Given the description of an element on the screen output the (x, y) to click on. 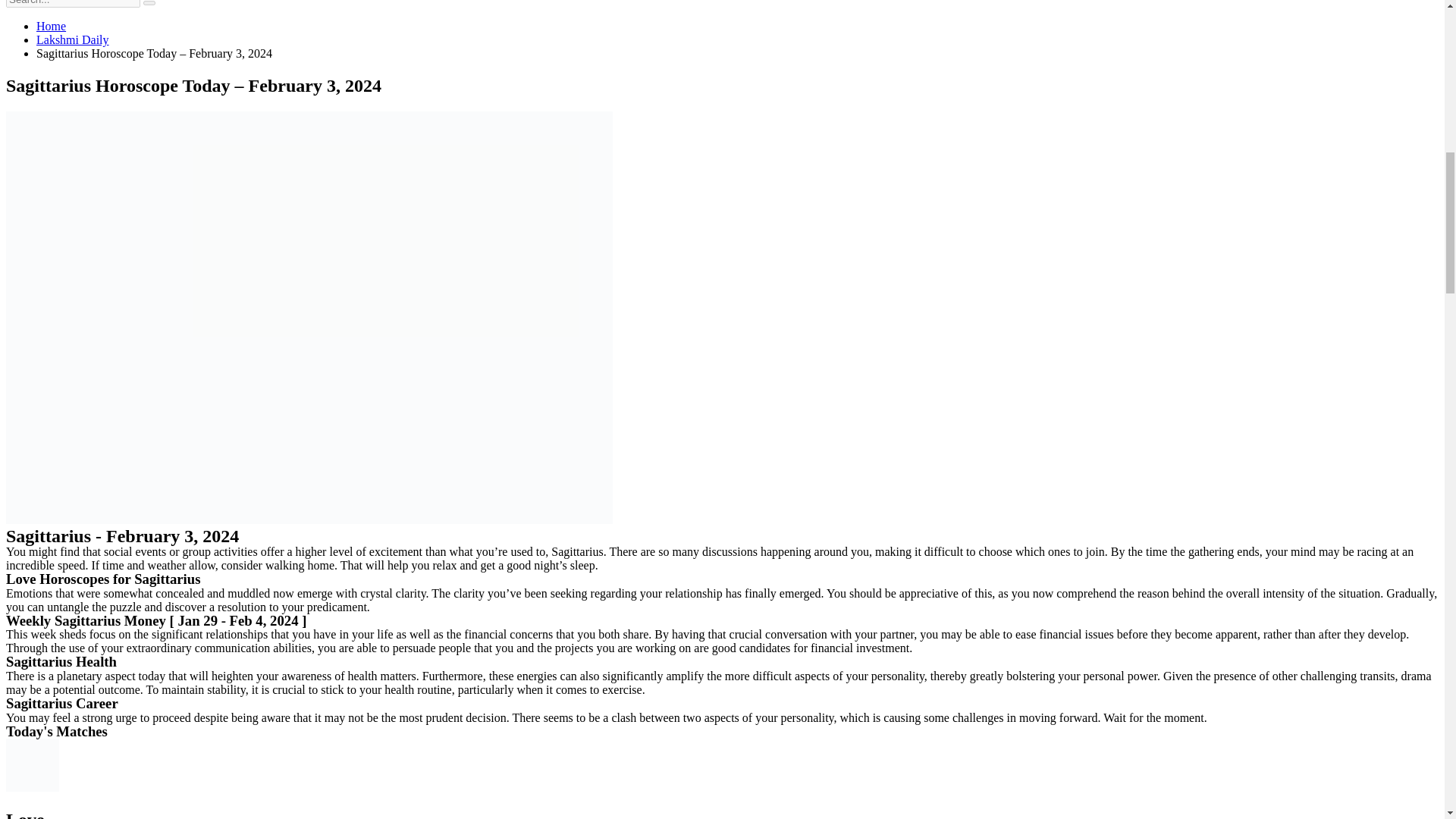
Lakshmi Daily (72, 39)
Home (50, 25)
